Given the description of an element on the screen output the (x, y) to click on. 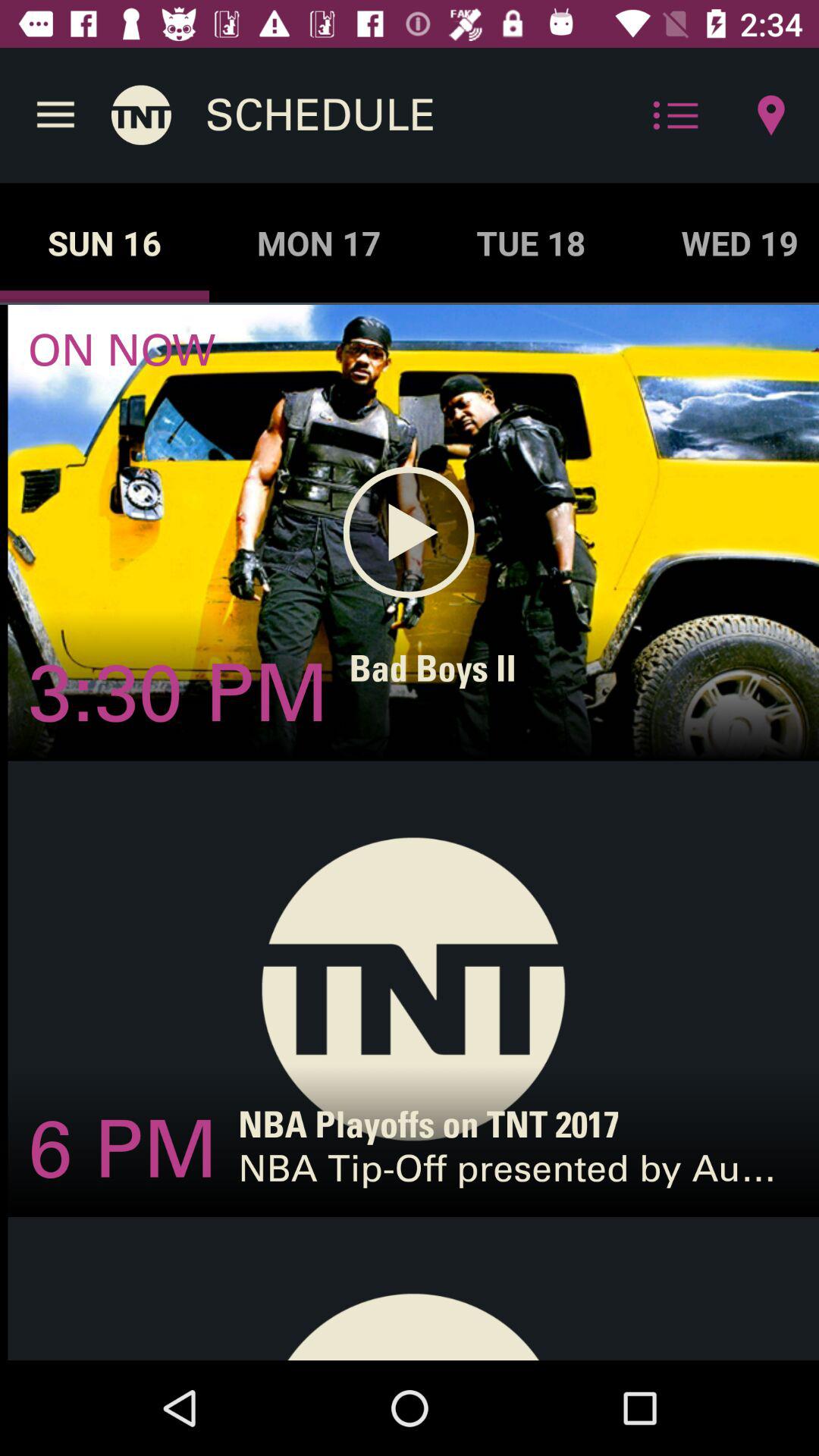
swipe until mon 17 icon (318, 242)
